Given the description of an element on the screen output the (x, y) to click on. 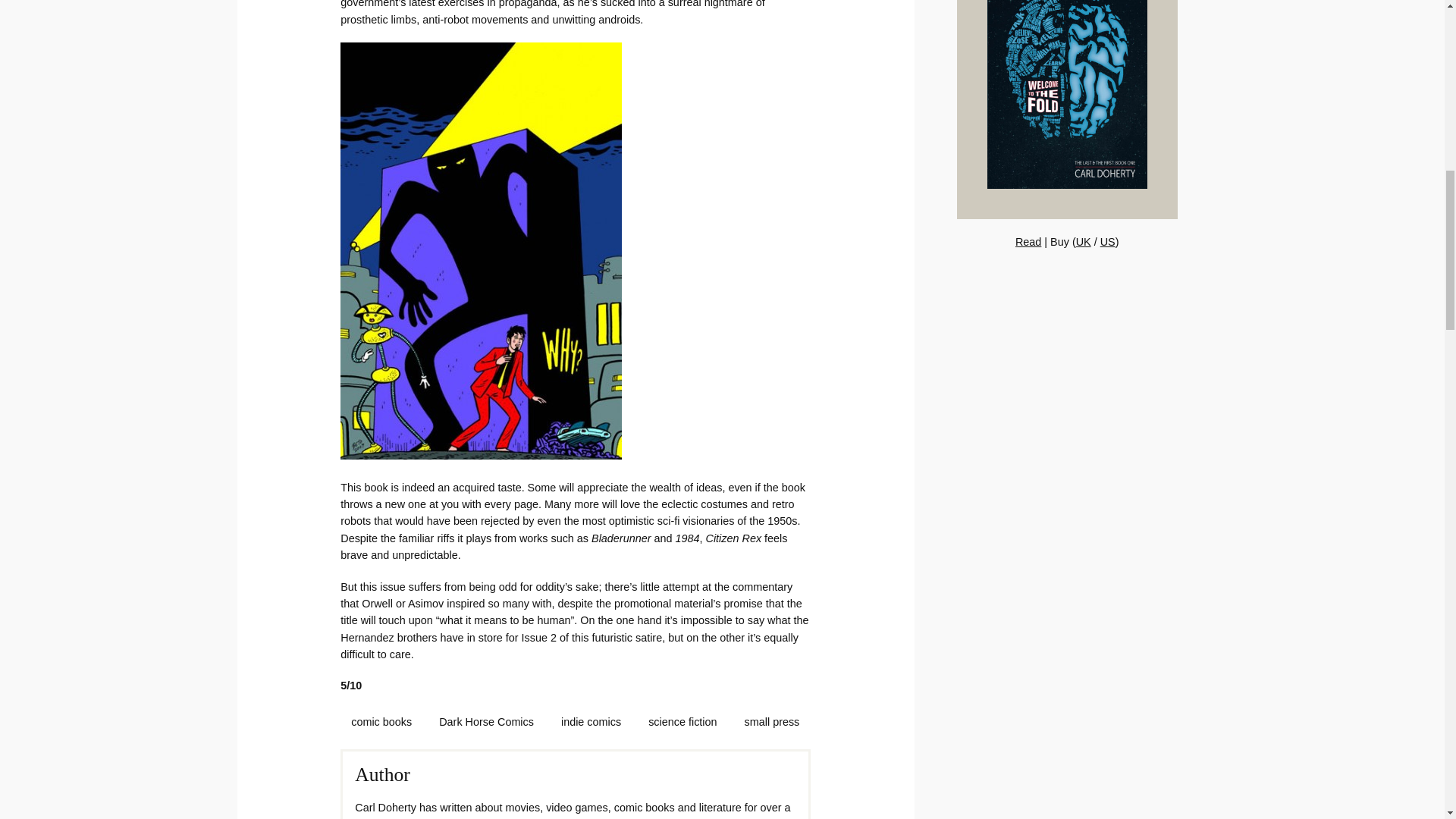
Dark Horse Comics (486, 721)
comic books (381, 721)
science fiction (681, 721)
small press (771, 721)
indie comics (590, 721)
